Given the description of an element on the screen output the (x, y) to click on. 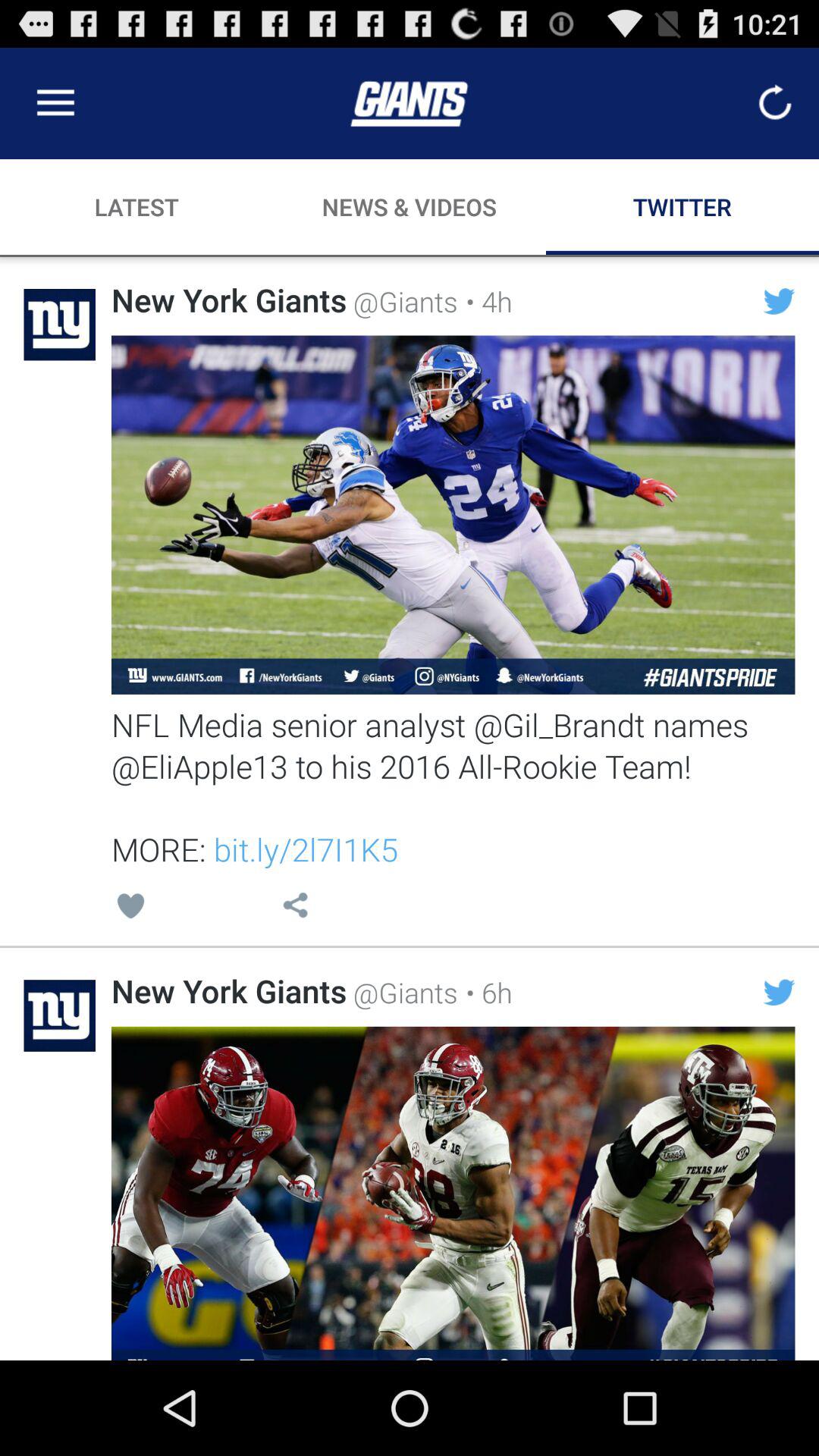
open icon above the latest item (55, 103)
